Given the description of an element on the screen output the (x, y) to click on. 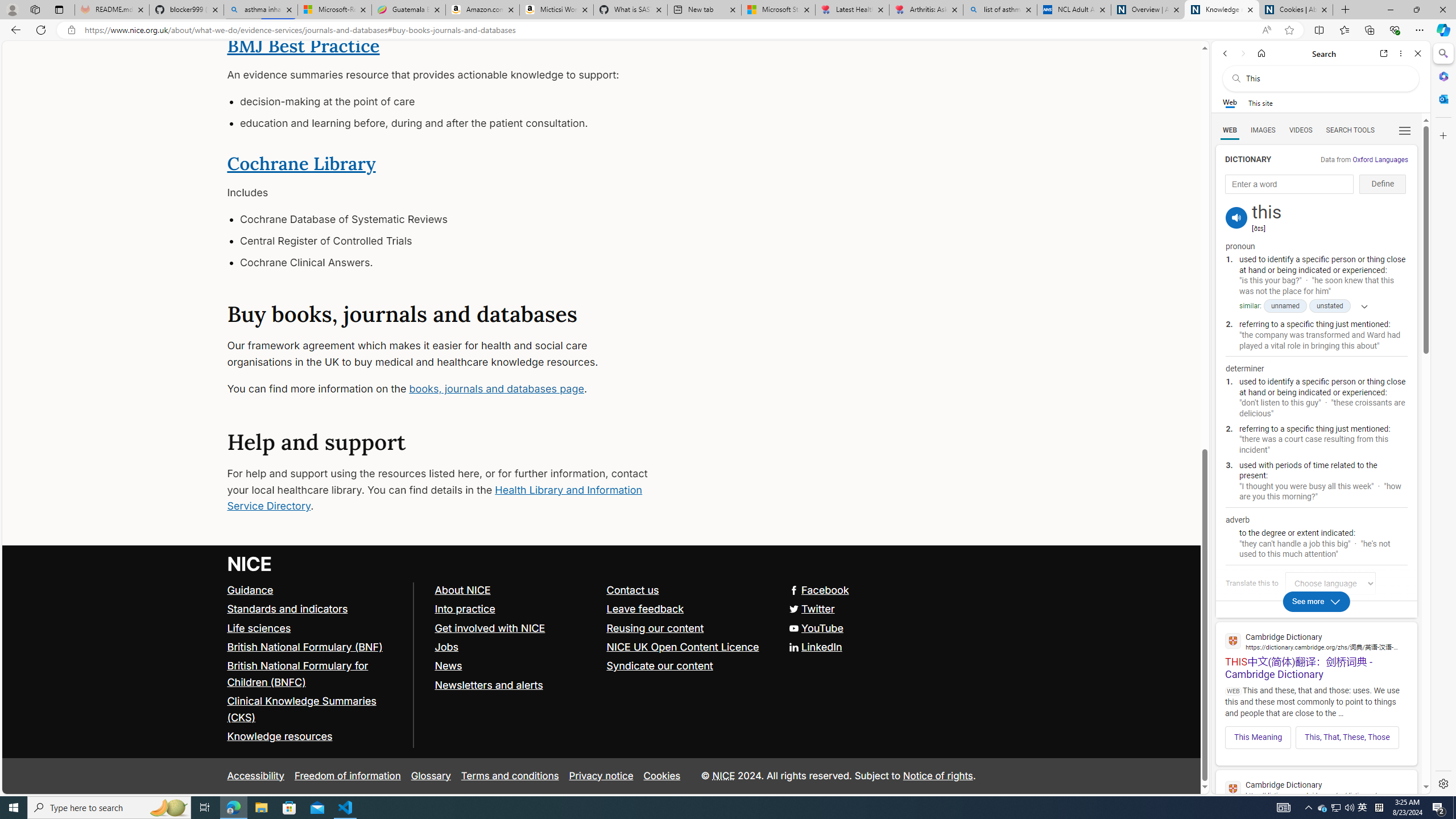
Syndicate our content (659, 666)
Guidance (250, 589)
Oxford Languages (1379, 159)
Workspaces (34, 9)
Newsletters and alerts (514, 684)
Class: b_serphb (1404, 130)
Outlook (1442, 98)
BMJ Best Practice (303, 46)
Enter a word (1289, 184)
